Given the description of an element on the screen output the (x, y) to click on. 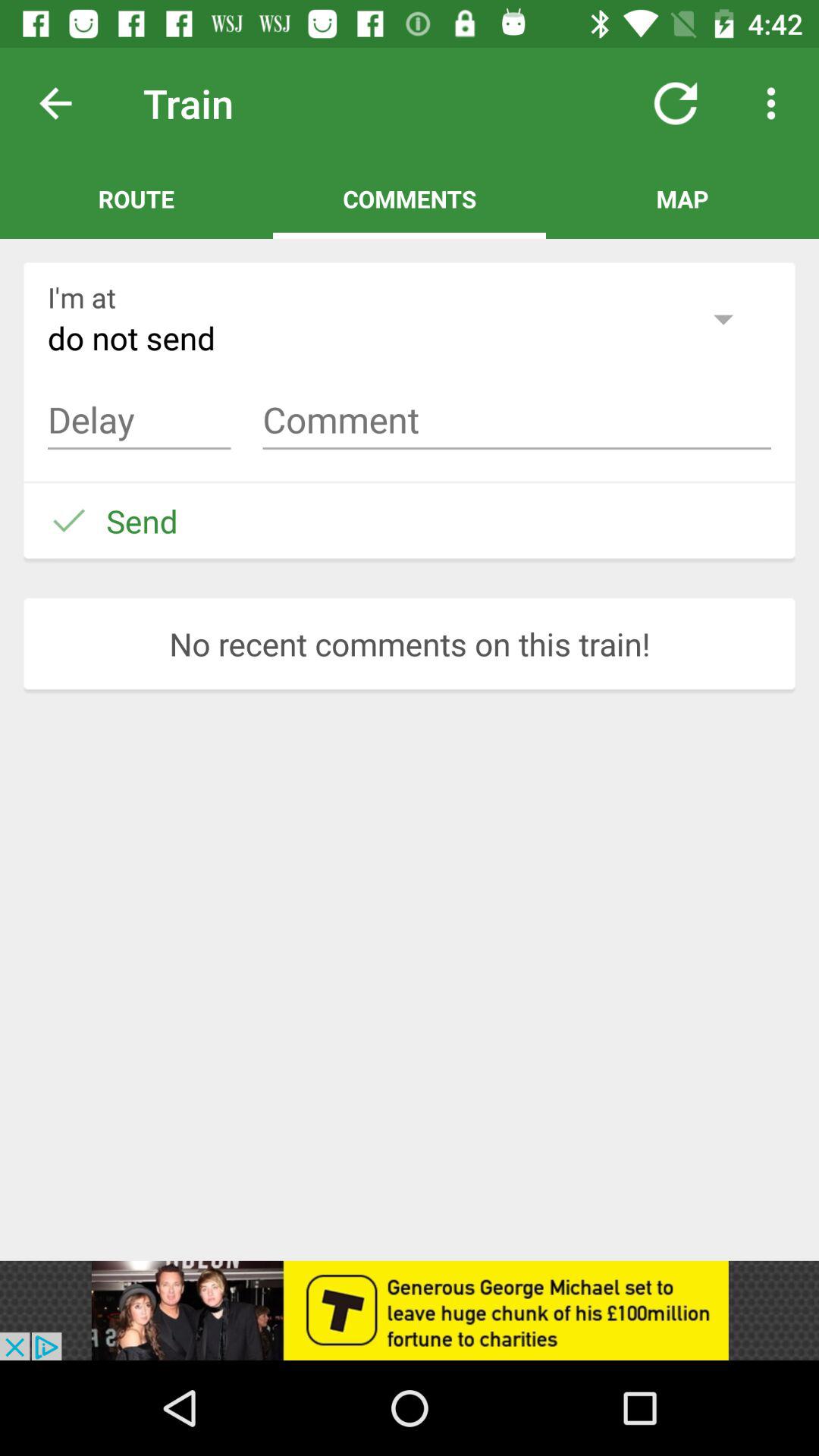
click on map at top right corner (682, 198)
select the text box which says delay (139, 420)
select the comment right next to delay (516, 420)
select comments on the top in between route and map (409, 198)
